Given the description of an element on the screen output the (x, y) to click on. 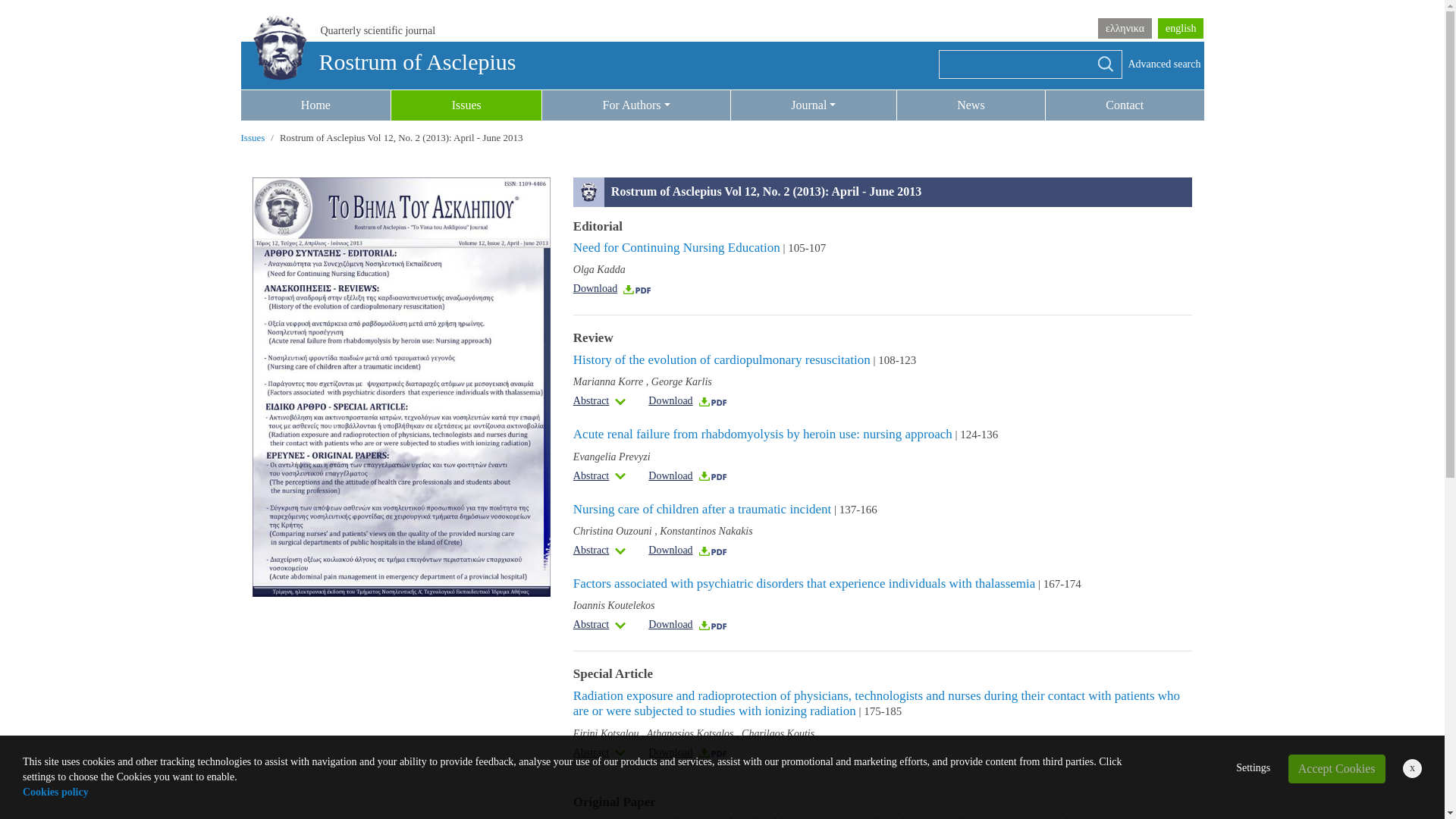
english (1180, 28)
Marianna Korre (608, 381)
Issues (252, 137)
Issues (466, 105)
Olga Kadda (599, 269)
Download (686, 475)
George Karlis (680, 381)
Evangelia Prevyzi (611, 456)
Rostrum of Asclepius (378, 61)
Advanced search (1165, 64)
For Authors (635, 105)
Journal (813, 105)
Download (612, 288)
Home (316, 105)
Contact (1124, 105)
